Given the description of an element on the screen output the (x, y) to click on. 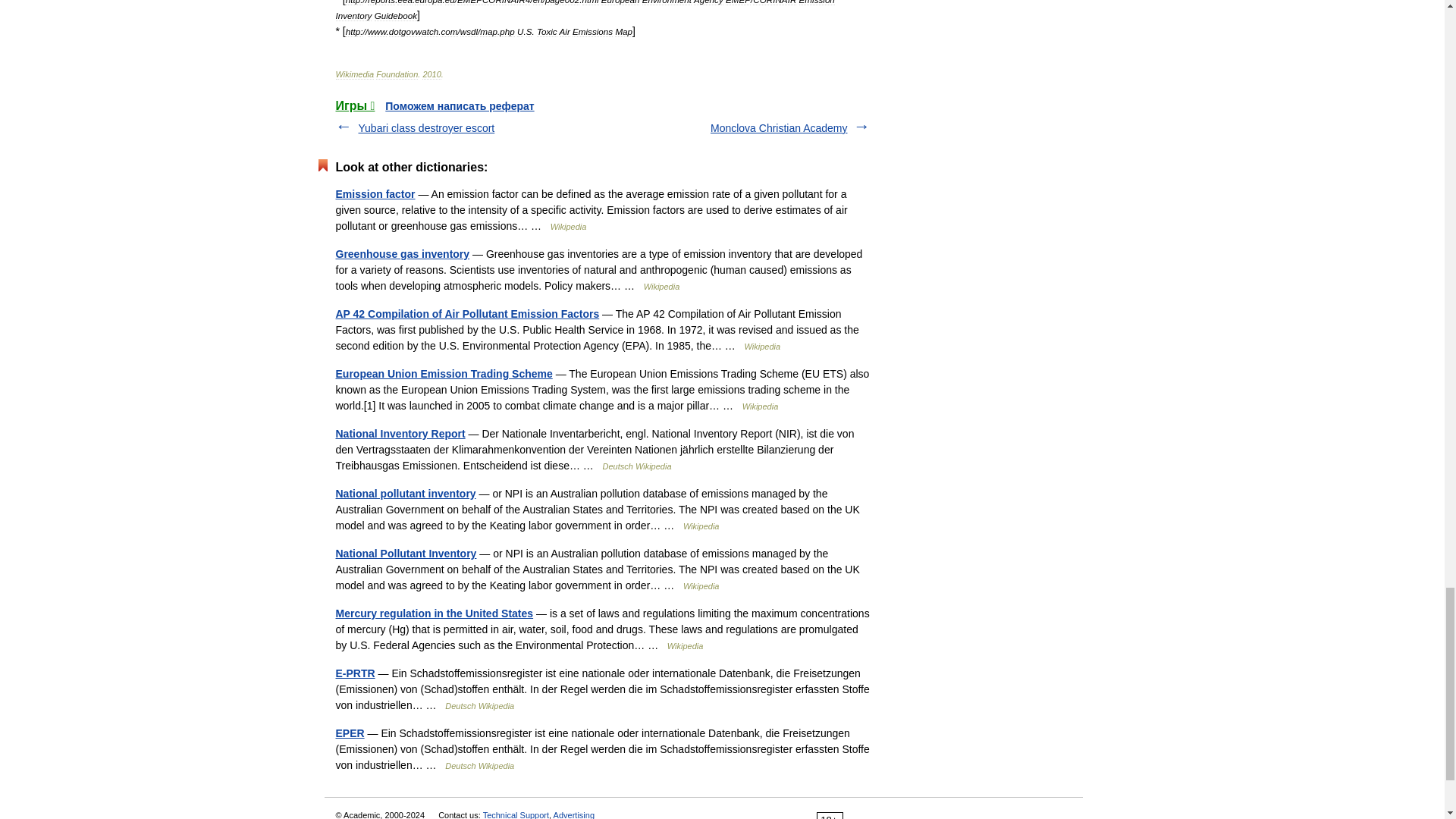
Monclova Christian Academy (778, 128)
European Union Emission Trading Scheme (442, 373)
Monclova Christian Academy (778, 128)
Yubari class destroyer escort (426, 128)
National pollutant inventory (405, 493)
Greenhouse gas inventory (401, 254)
LiveInternet (877, 814)
Yubari class destroyer escort (426, 128)
Emission factor (374, 193)
AP 42 Compilation of Air Pollutant Emission Factors (466, 313)
E-PRTR (354, 673)
National Pollutant Inventory (405, 553)
National Inventory Report (399, 433)
EPER (349, 733)
Mercury regulation in the United States (433, 613)
